Given the description of an element on the screen output the (x, y) to click on. 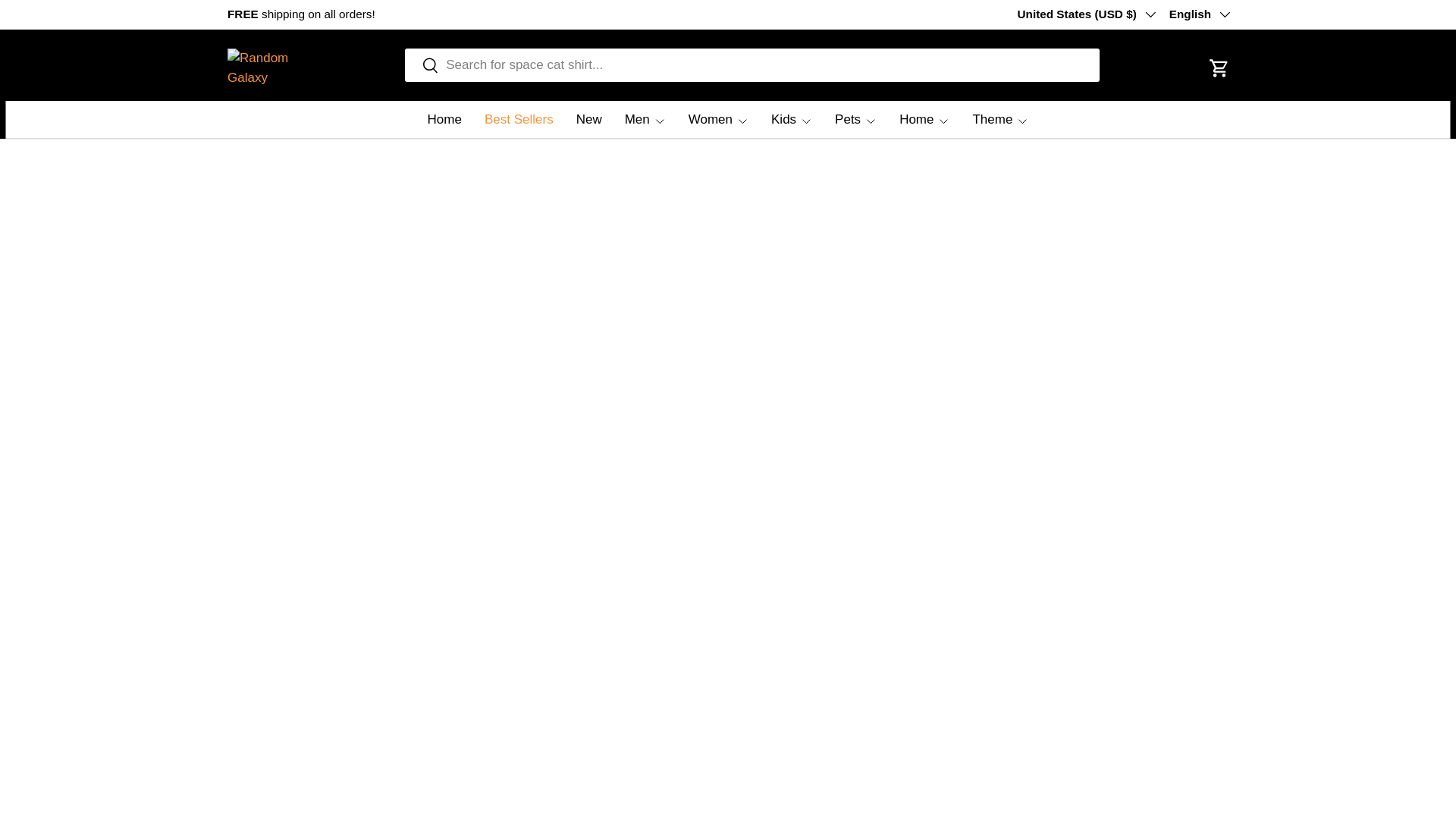
Search (421, 66)
Skip to content (64, 21)
Cart (1219, 68)
English (1198, 14)
